Given the description of an element on the screen output the (x, y) to click on. 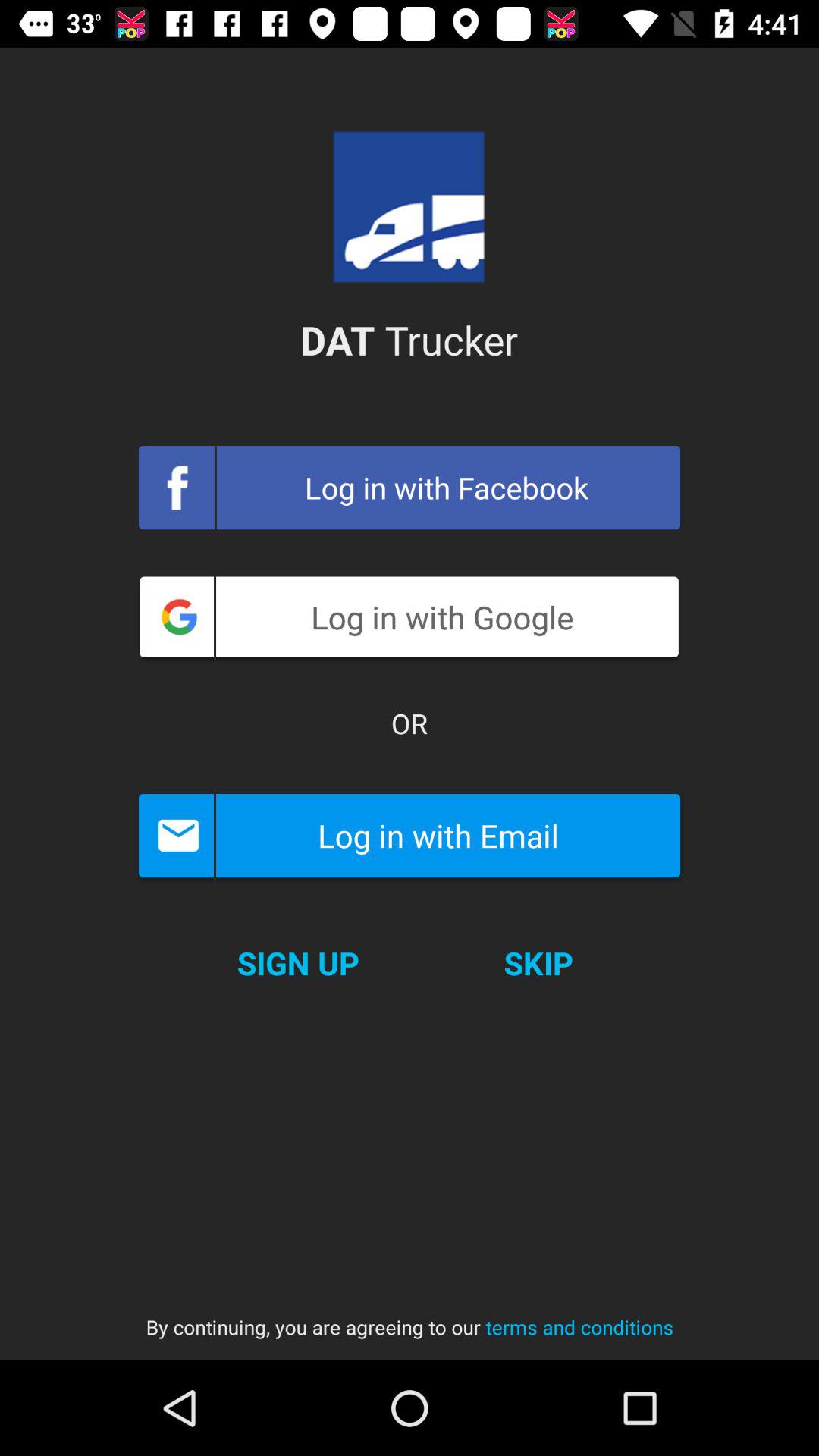
tap the icon below log in with (409, 723)
